Given the description of an element on the screen output the (x, y) to click on. 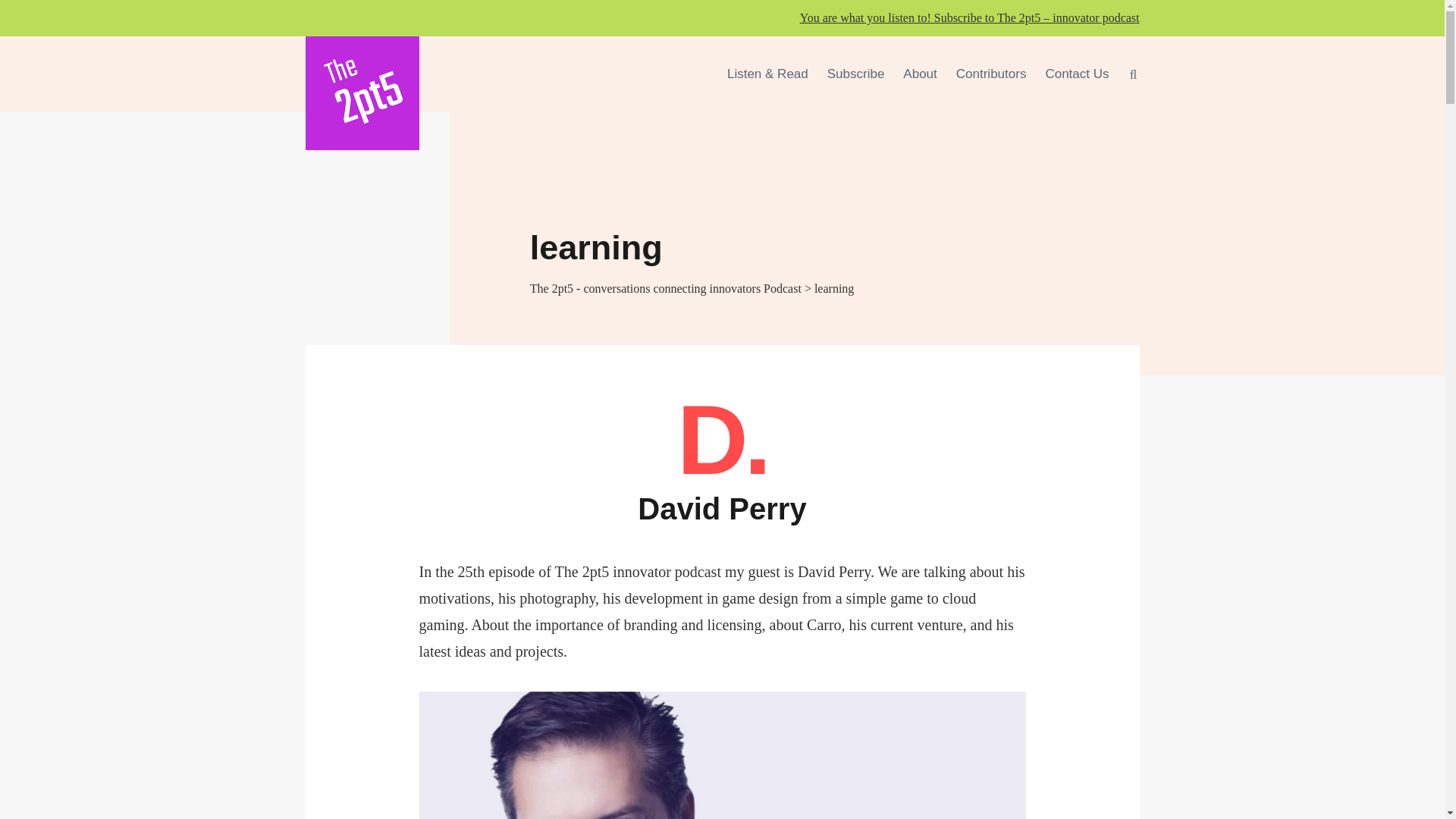
David Perry (721, 507)
About (919, 73)
The 2pt5 - conversations connecting innovators Podcast (665, 287)
Contributors (991, 73)
Contact Us (1076, 73)
Subscribe (856, 73)
